Given the description of an element on the screen output the (x, y) to click on. 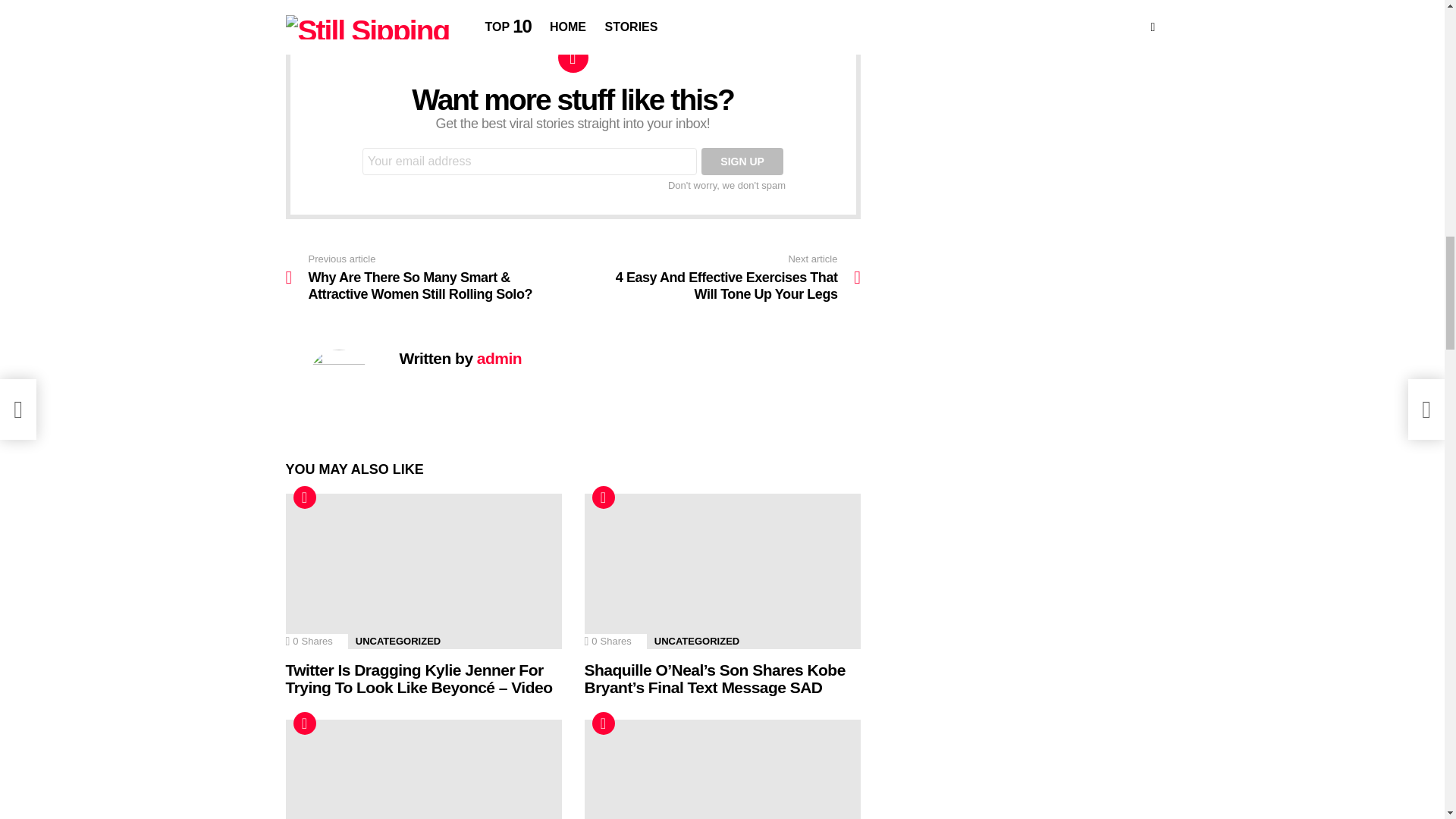
Hot (303, 722)
Hot (303, 497)
Hot (303, 497)
Sign up (742, 161)
Hot (602, 497)
Hot (602, 722)
UNCATEGORIZED (696, 641)
Hot (303, 722)
UNCATEGORIZED (397, 641)
Hot (602, 722)
admin (499, 357)
Hot (602, 497)
Sign up (742, 161)
